Given the description of an element on the screen output the (x, y) to click on. 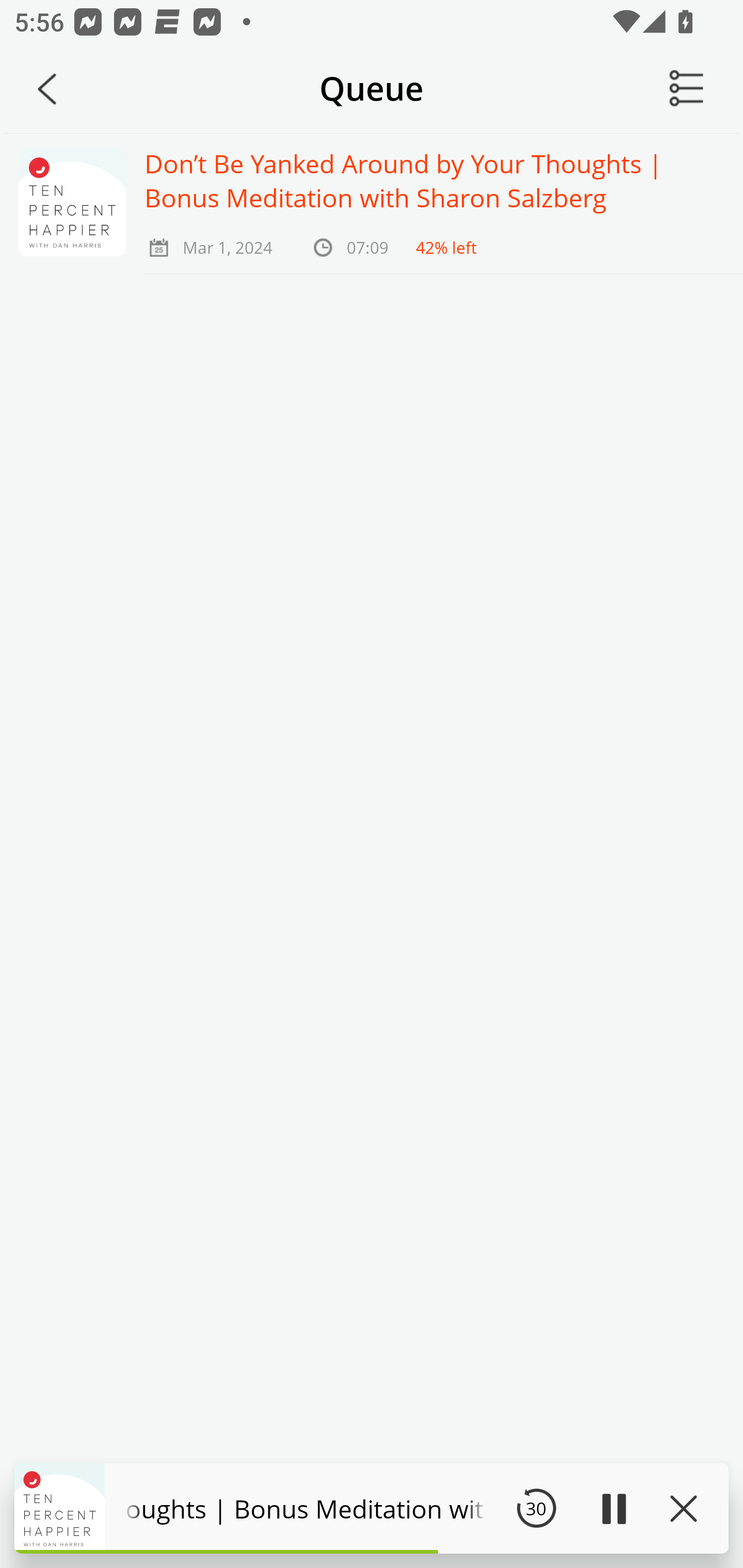
Back (46, 88)
Play (613, 1507)
30 Seek Backward (536, 1508)
